Given the description of an element on the screen output the (x, y) to click on. 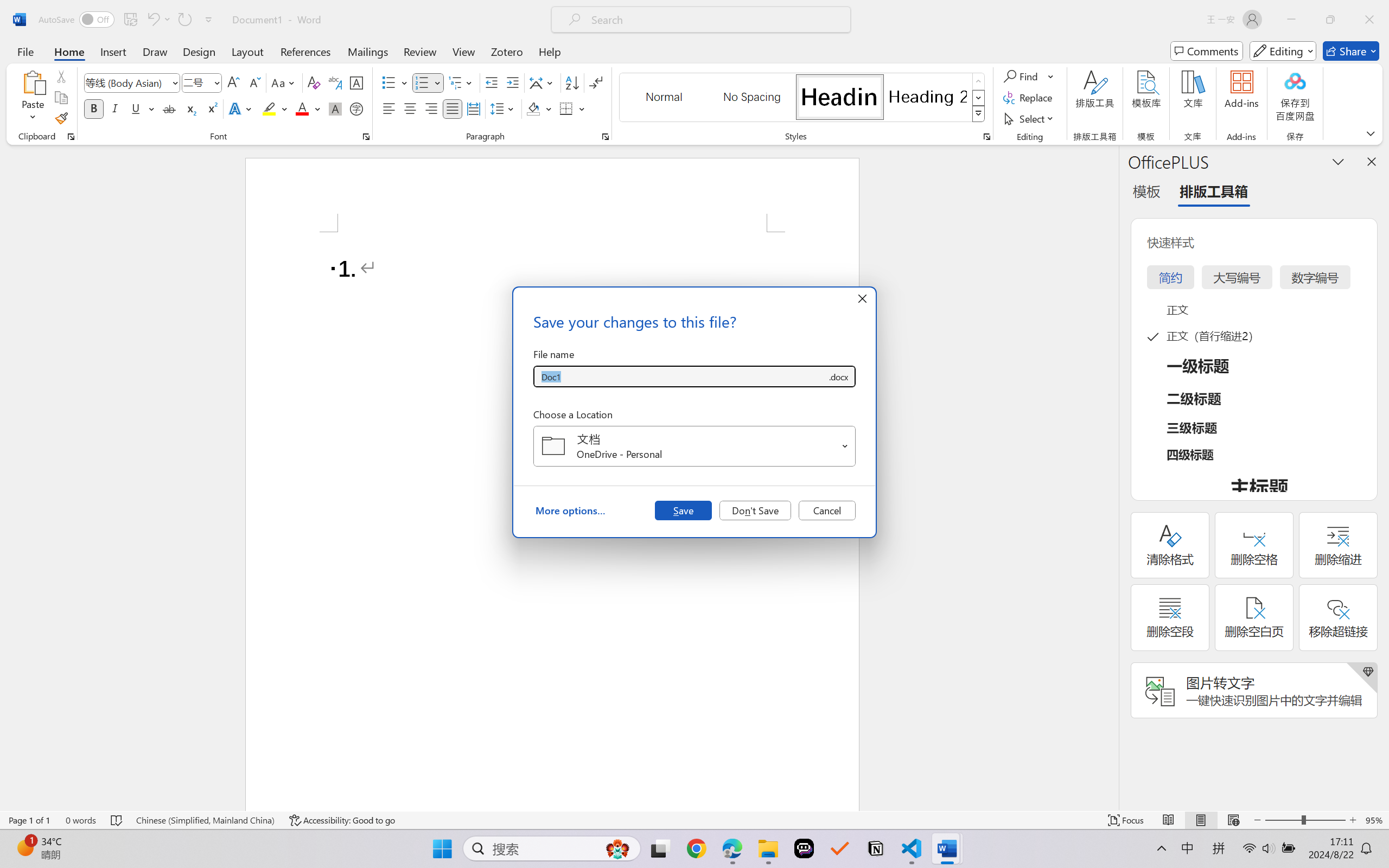
Cancel (826, 509)
Class: MsoCommandBar (694, 819)
